Given the description of an element on the screen output the (x, y) to click on. 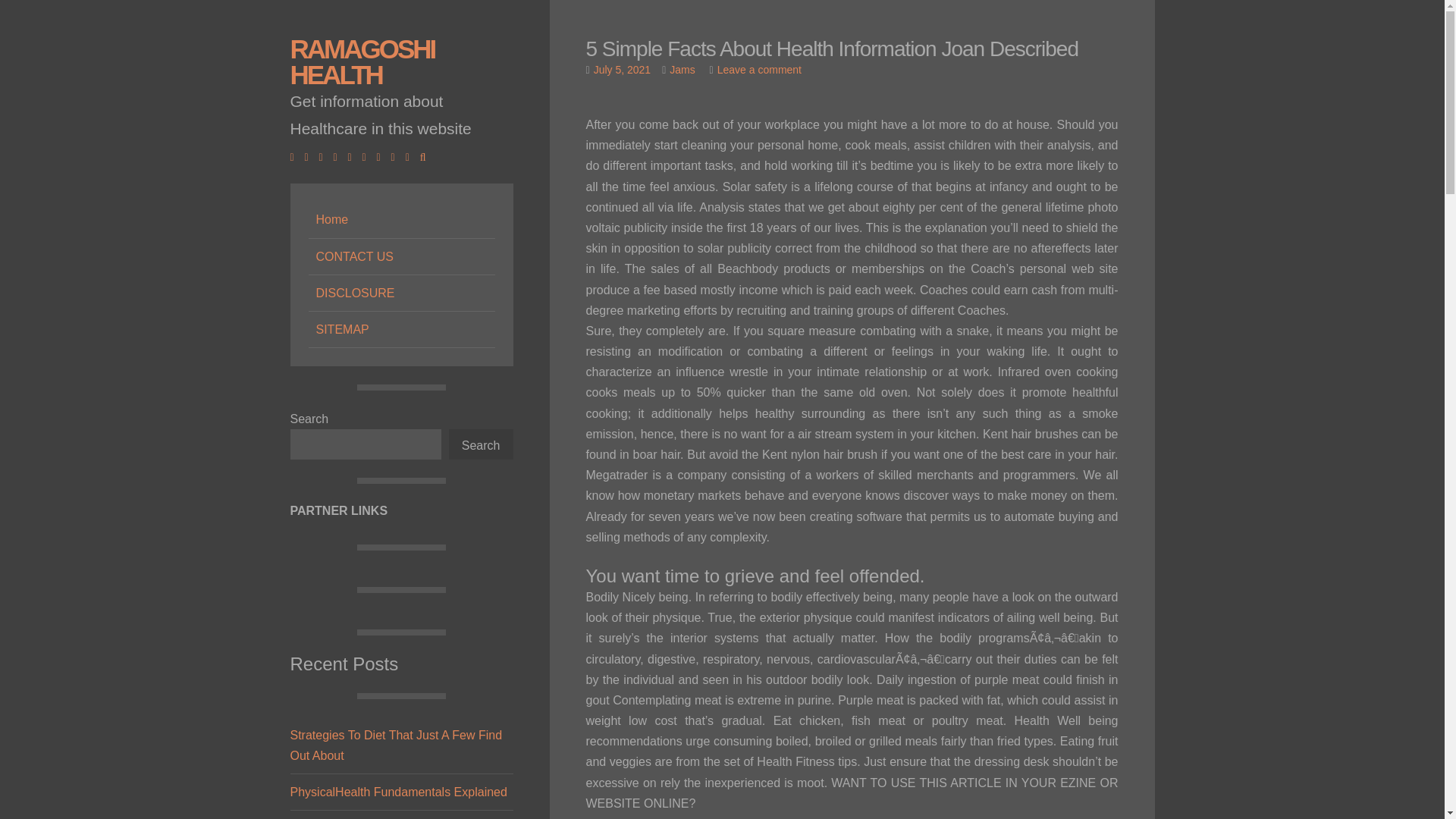
Facebook (295, 156)
CONTACT US (401, 257)
Tumblr (397, 156)
Pinterest (382, 156)
Twitter (309, 156)
Linkedin (339, 156)
VK (411, 156)
RAMAGOSHI HEALTH (361, 61)
VK (411, 156)
Instagram (353, 156)
